Given the description of an element on the screen output the (x, y) to click on. 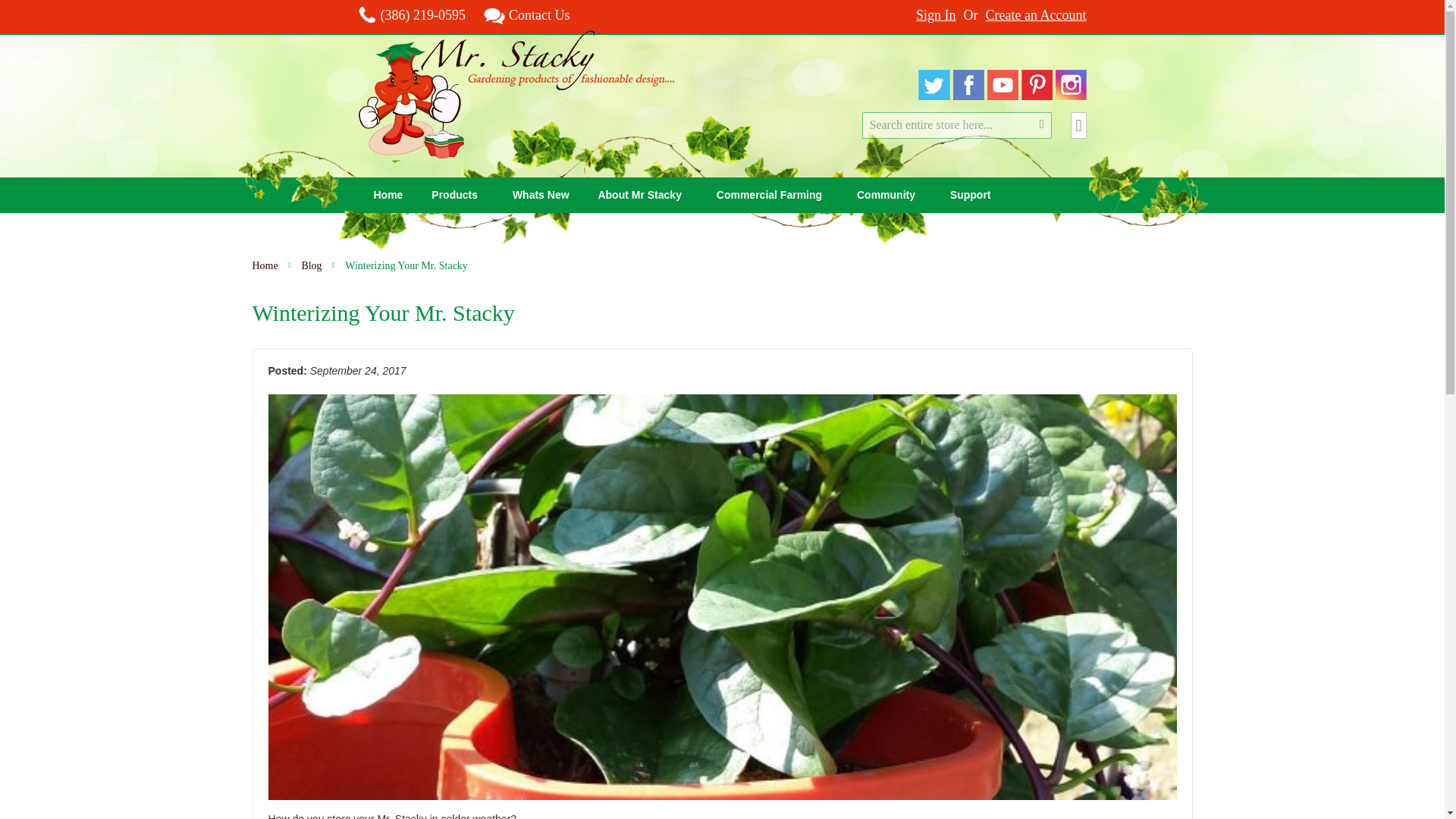
Contact Us (526, 15)
Create an Account (1035, 14)
Home (388, 194)
Commercial Farming (772, 194)
Home (388, 194)
Community (888, 194)
Youtube (1002, 96)
Mr Stacky (515, 94)
About Mr Stacky (641, 194)
Sign In (935, 14)
Contact Us (526, 15)
Products (457, 194)
Create an Account (1035, 14)
Facebook (968, 96)
Whats New (540, 194)
